Given the description of an element on the screen output the (x, y) to click on. 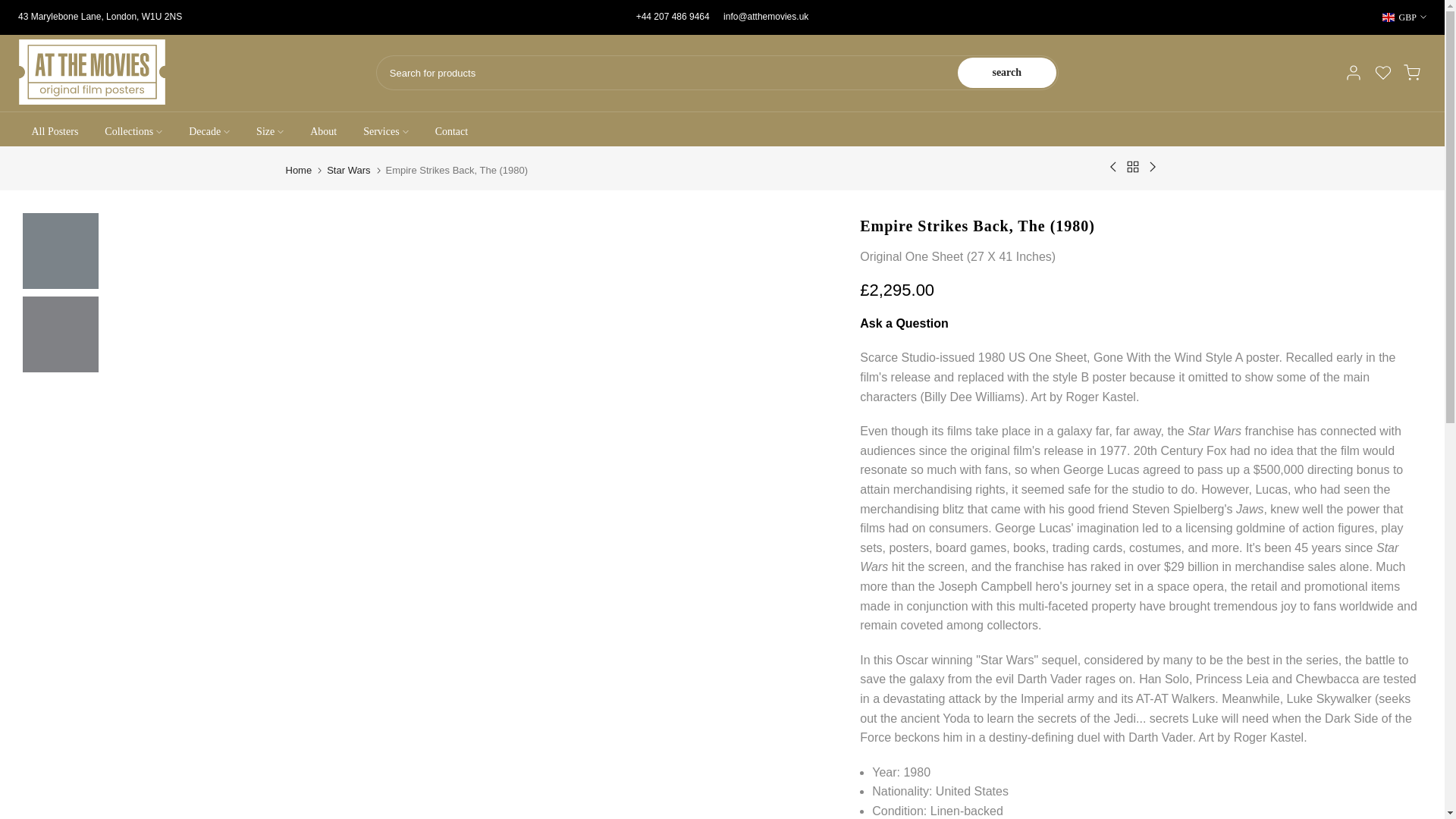
Star Wars (347, 170)
Decade (209, 131)
Home (298, 170)
Skip to content (10, 7)
All Posters (54, 131)
Size (270, 131)
Services (386, 131)
About (323, 131)
search (1007, 72)
Contact (451, 131)
Collections (133, 131)
GBP (1403, 17)
